Given the description of an element on the screen output the (x, y) to click on. 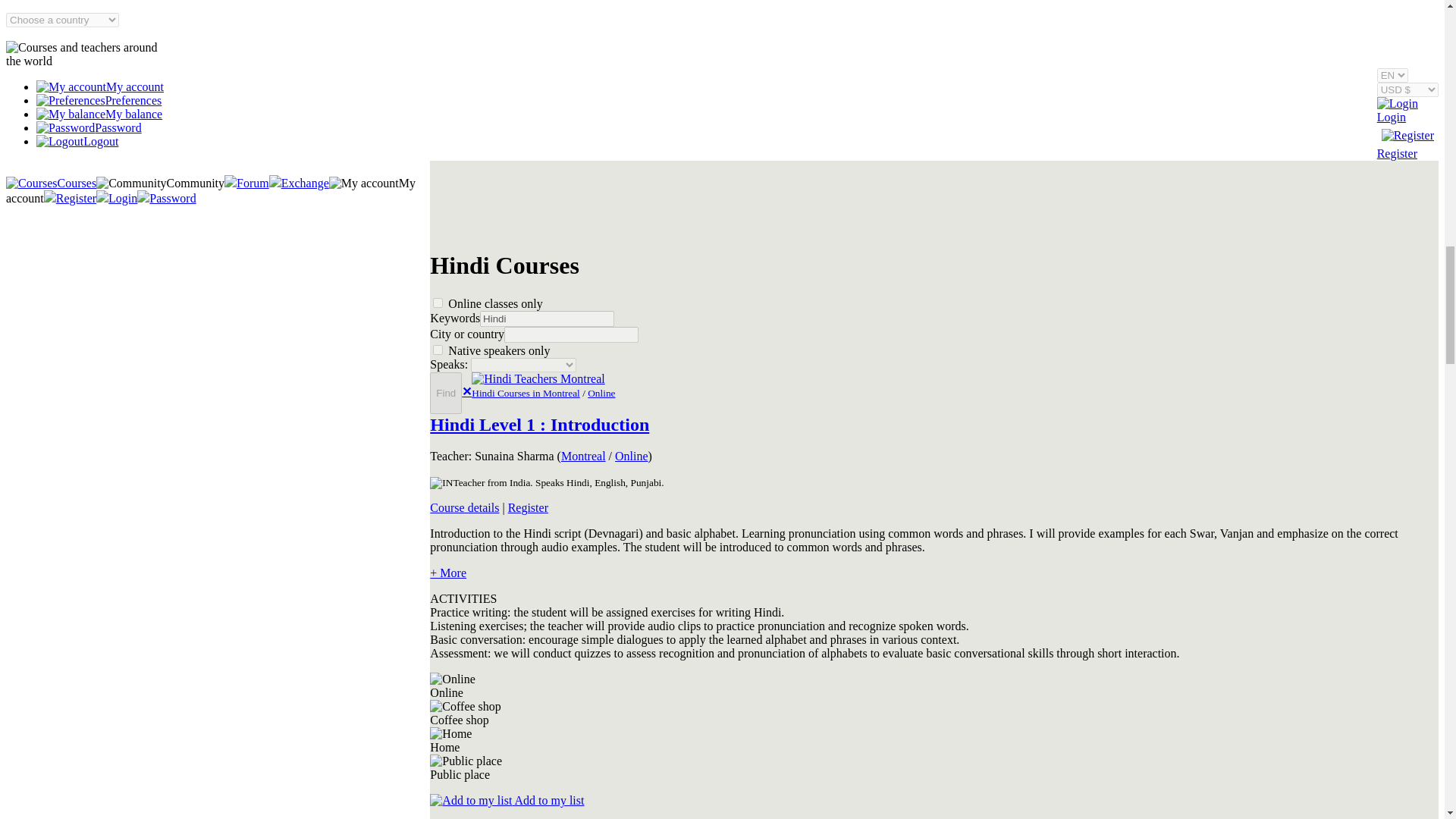
on (437, 302)
Hindi (547, 318)
on (437, 349)
Hindi (547, 318)
Login (1397, 103)
